Given the description of an element on the screen output the (x, y) to click on. 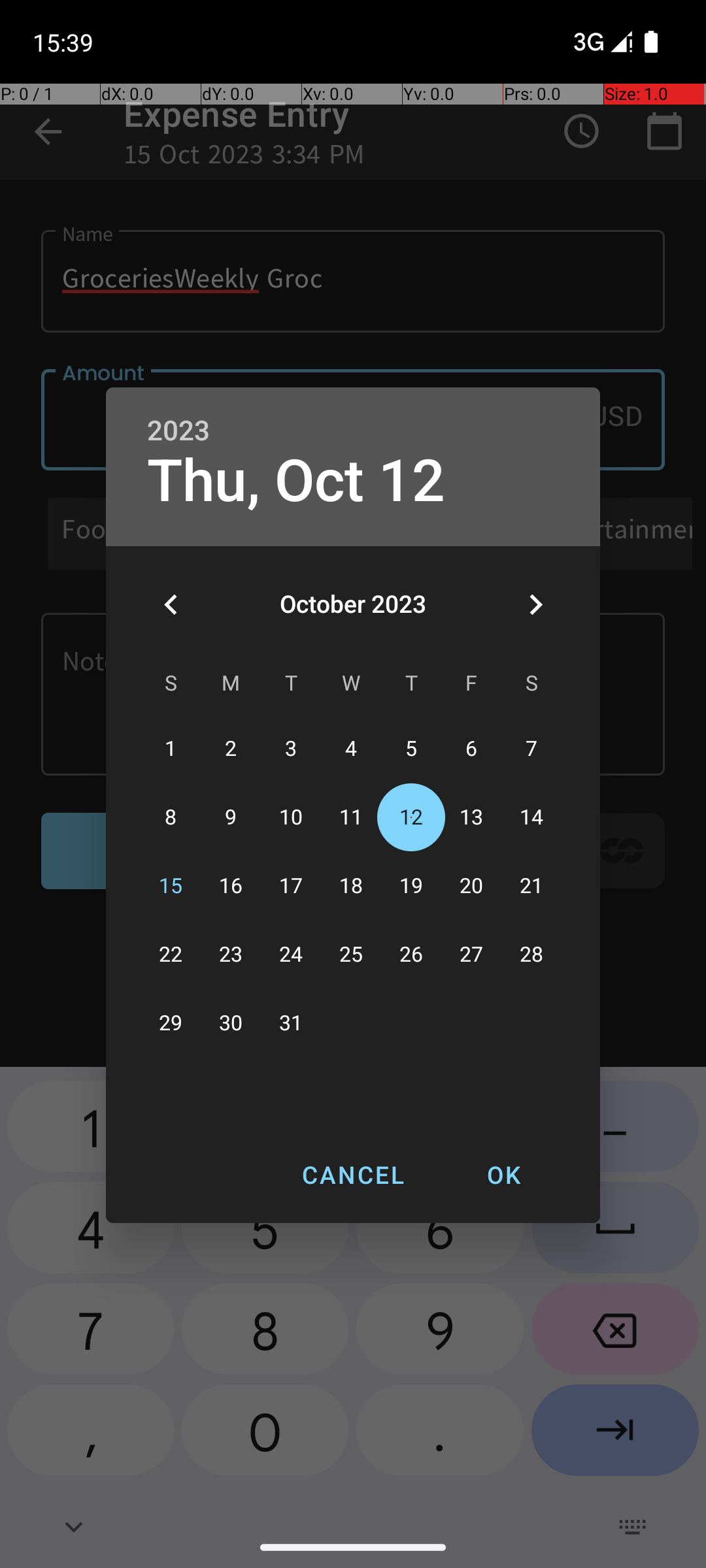
2023 Element type: android.widget.TextView (178, 430)
Thu, Oct 12 Element type: android.widget.TextView (296, 480)
Previous month Element type: android.widget.ImageButton (170, 604)
Next month Element type: android.widget.ImageButton (535, 604)
CANCEL Element type: android.widget.Button (352, 1174)
11 Element type: android.view.View (350, 817)
12 Element type: android.view.View (411, 817)
13 Element type: android.view.View (471, 817)
14 Element type: android.view.View (531, 817)
16 Element type: android.view.View (230, 885)
17 Element type: android.view.View (290, 885)
18 Element type: android.view.View (350, 885)
19 Element type: android.view.View (411, 885)
21 Element type: android.view.View (531, 885)
22 Element type: android.view.View (170, 954)
23 Element type: android.view.View (230, 954)
24 Element type: android.view.View (290, 954)
26 Element type: android.view.View (411, 954)
27 Element type: android.view.View (471, 954)
28 Element type: android.view.View (531, 954)
29 Element type: android.view.View (170, 1023)
31 Element type: android.view.View (290, 1023)
15:39 Element type: android.widget.TextView (64, 41)
